Given the description of an element on the screen output the (x, y) to click on. 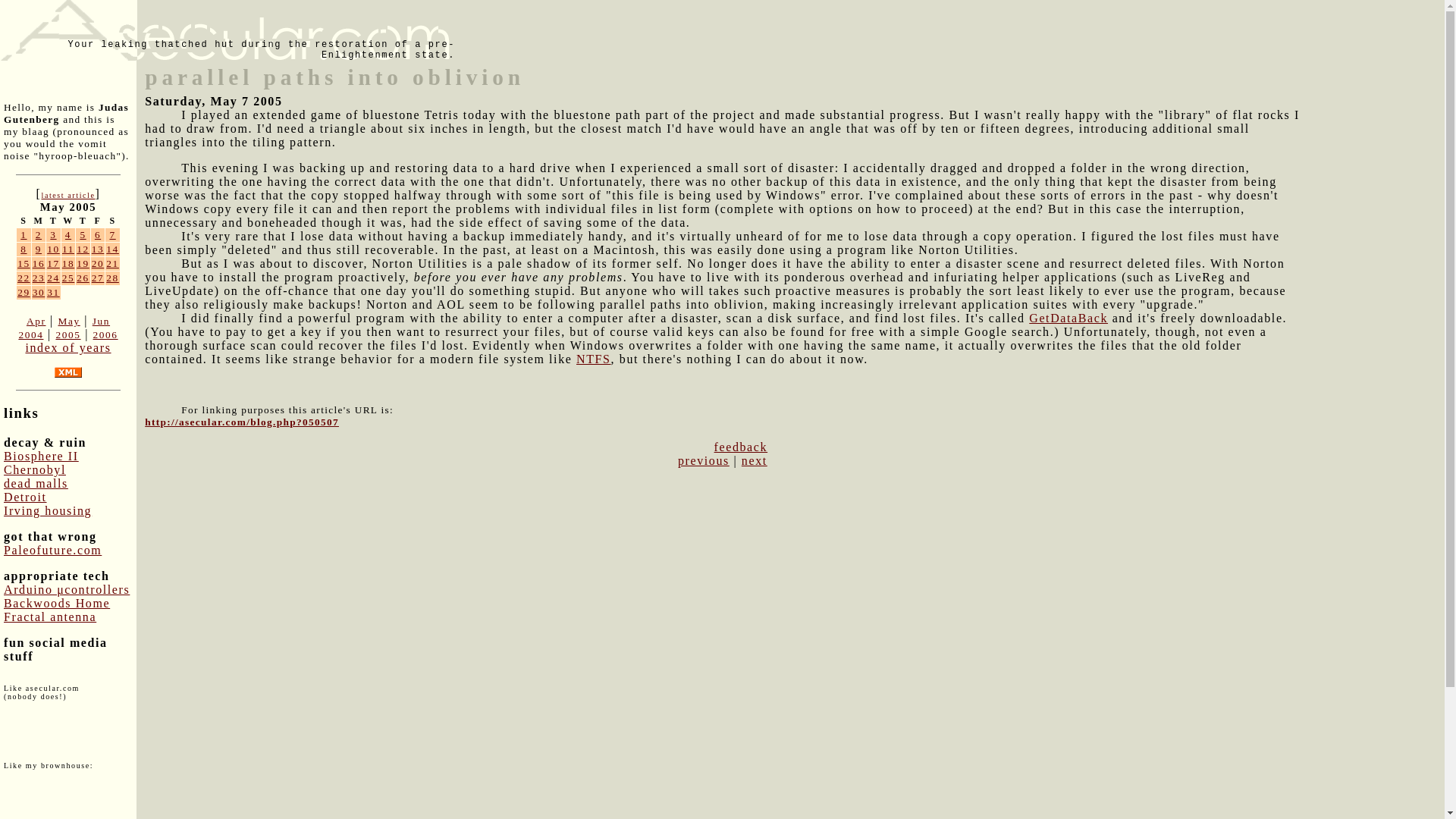
2004 (30, 334)
29 (23, 292)
2005 (67, 334)
15 (23, 263)
19 (82, 263)
27 (97, 277)
Jun (101, 320)
28 (112, 277)
30 (38, 292)
13 (97, 248)
